Given the description of an element on the screen output the (x, y) to click on. 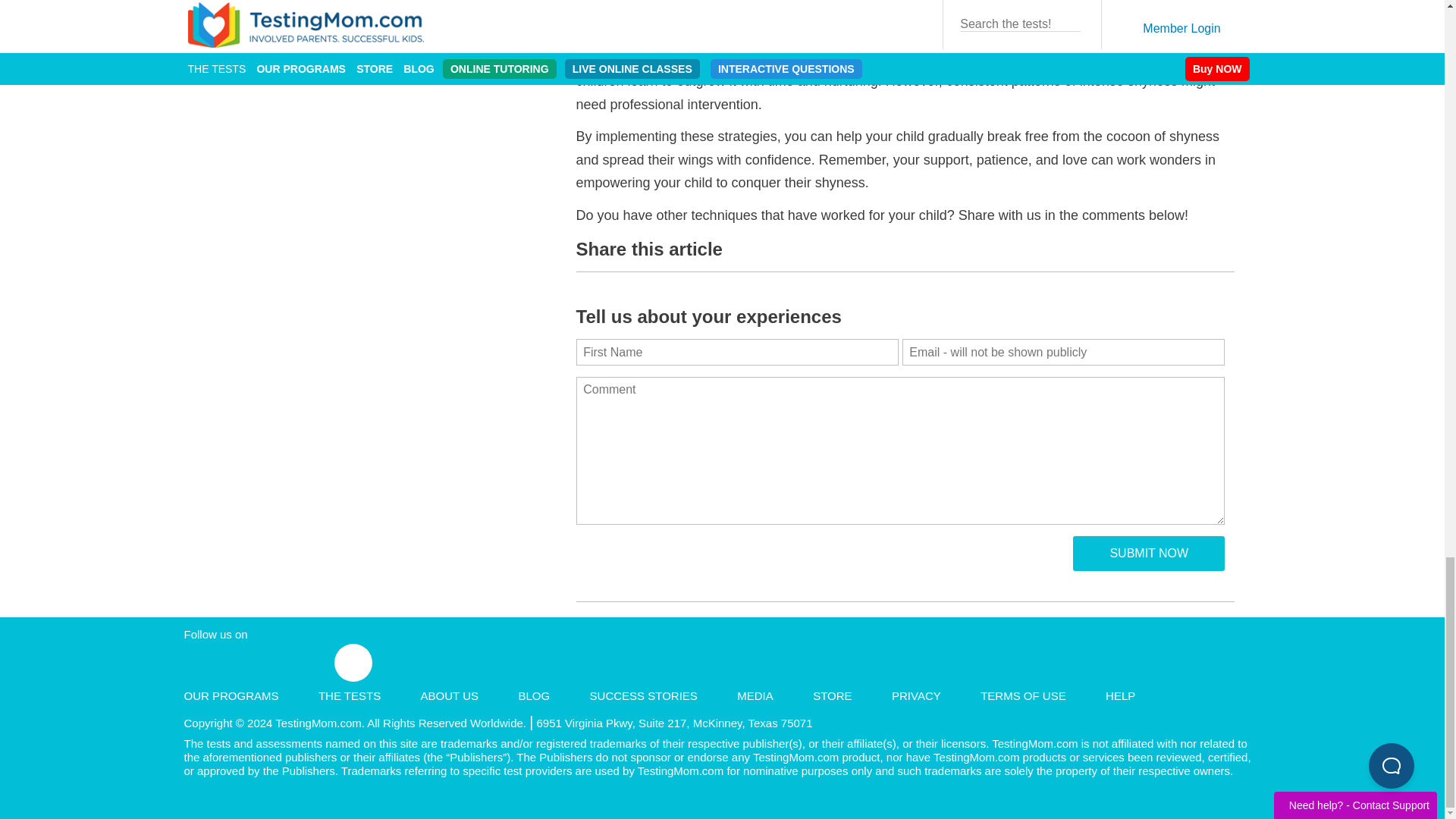
According to the American Academy of Pediatrics (725, 57)
SUBMIT NOW (1148, 553)
SUBMIT NOW (1148, 553)
